Given the description of an element on the screen output the (x, y) to click on. 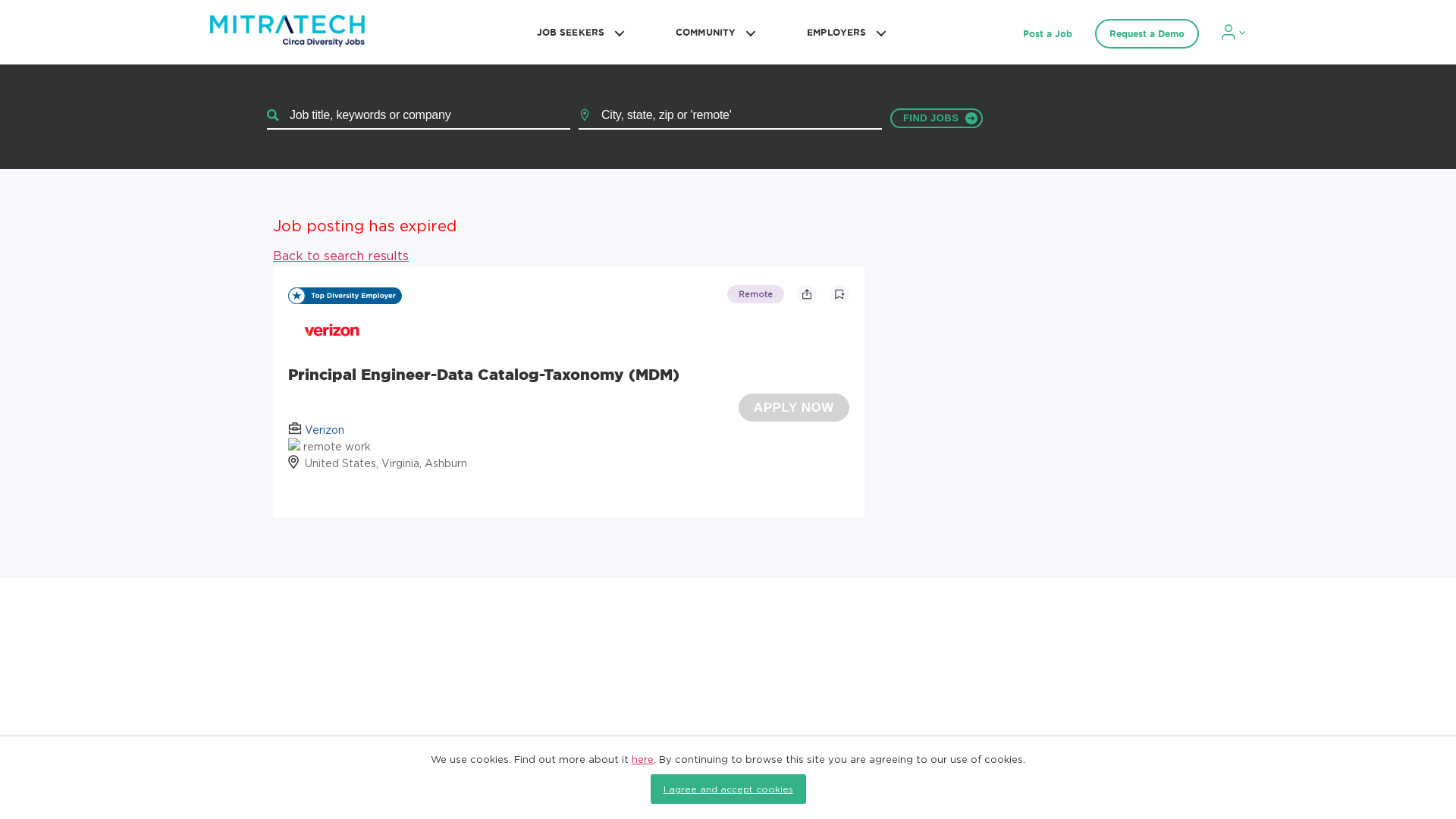
EMPLOYERS (843, 31)
Job title, keywords or company (418, 115)
Apply Now (793, 407)
COMMUNITY (713, 31)
JOB SEEKERS (578, 31)
here (642, 758)
SAVE THIS JOB (838, 293)
Search (935, 117)
Find Jobs (935, 117)
Share (806, 293)
